Given the description of an element on the screen output the (x, y) to click on. 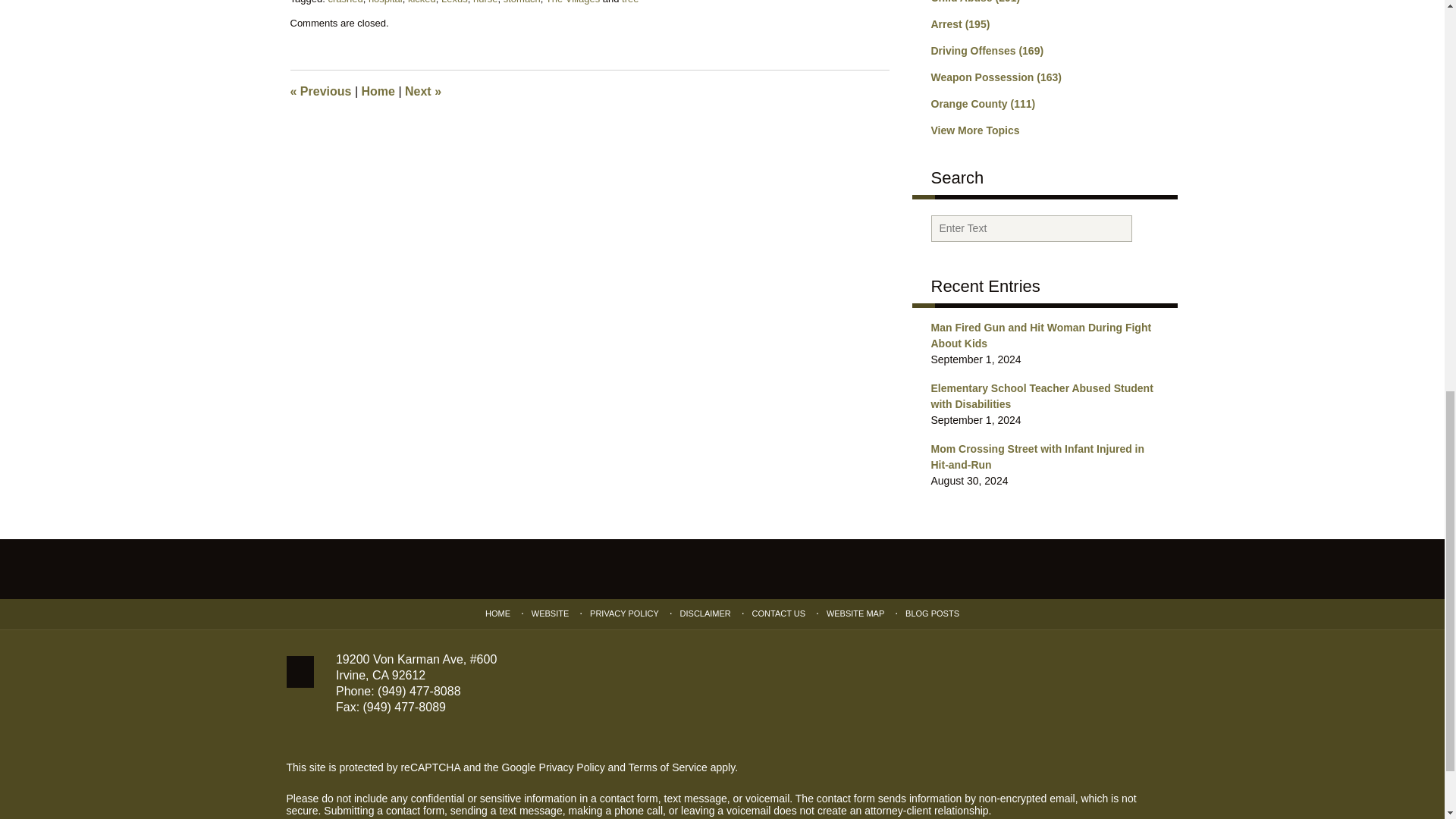
tree (630, 2)
Florida Man Arrested for Seventh DUI During Traffic Stop (319, 91)
hospital (385, 2)
Lexus (454, 2)
View all posts tagged with Lexus (454, 2)
View all posts tagged with stomach (521, 2)
View all posts tagged with nurse (485, 2)
kicked (421, 2)
Man Stole Semi with 10 Corvettes for Ride Home from Prison (422, 91)
View all posts tagged with hospital (385, 2)
